Given the description of an element on the screen output the (x, y) to click on. 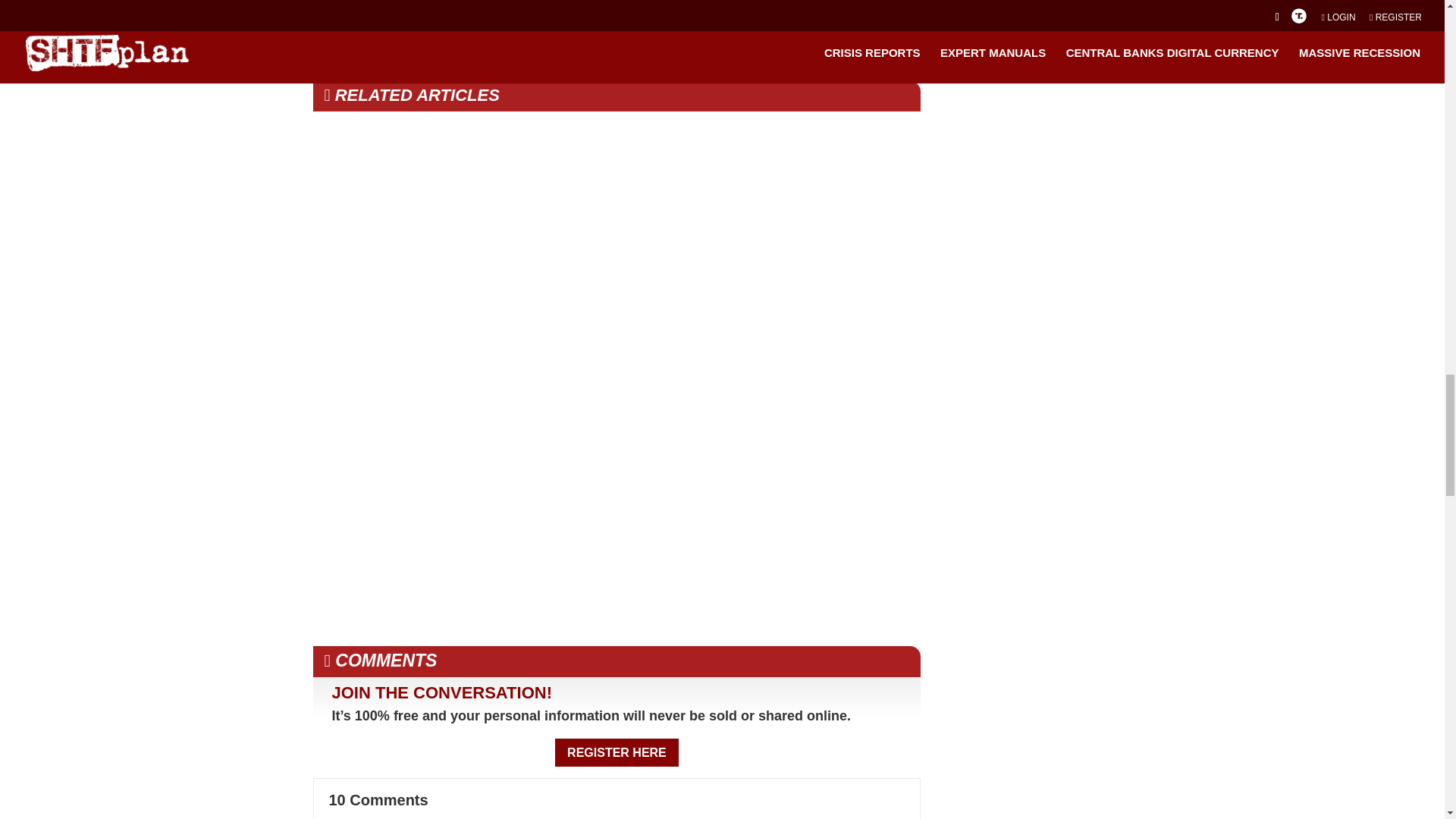
Subscribe Now! (765, 3)
Subscribe Now! (765, 3)
Gold-Breakout-cf (468, 22)
REGISTER HERE (616, 752)
